Given the description of an element on the screen output the (x, y) to click on. 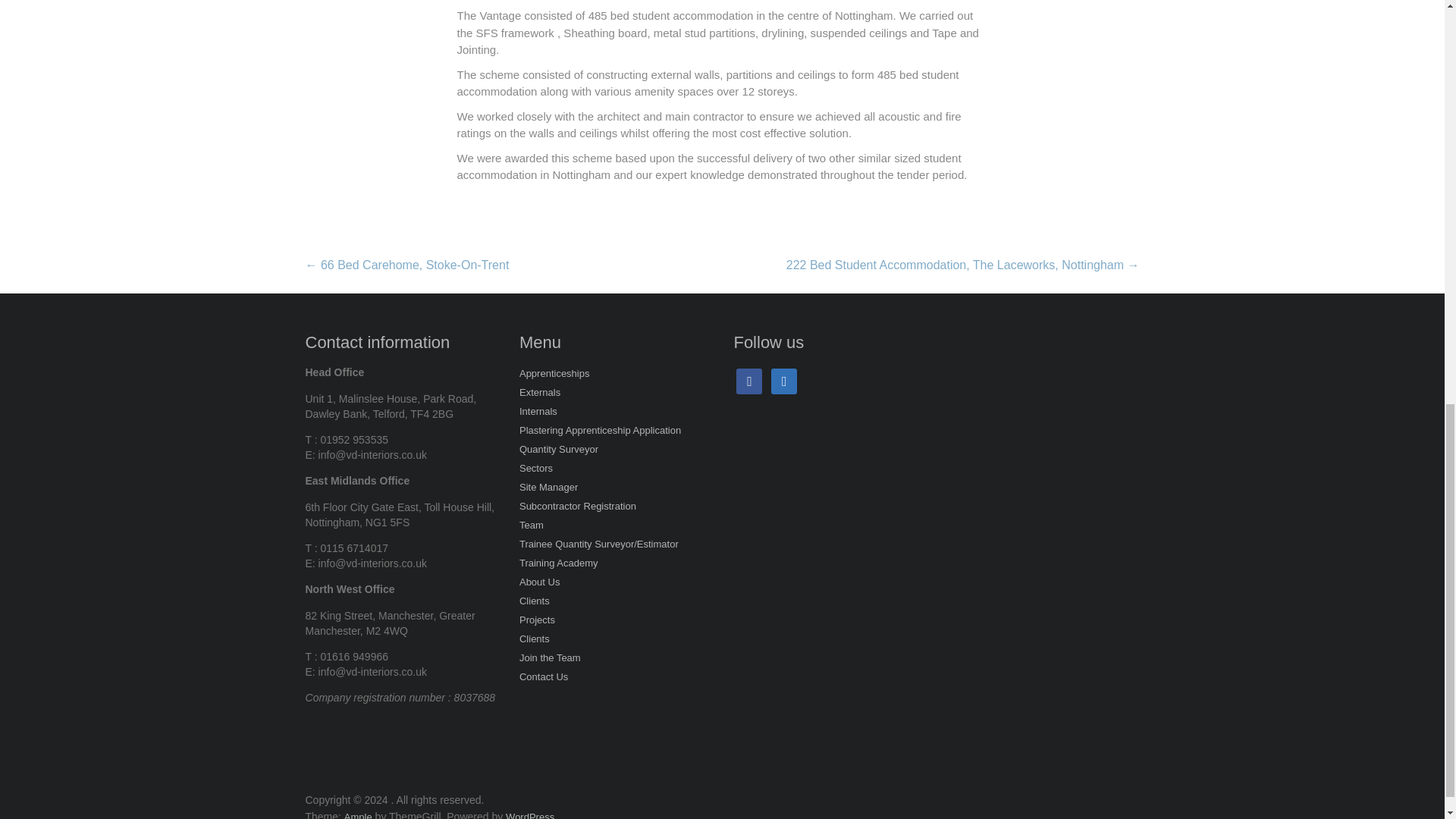
Projects (536, 620)
Subcontractor Registration (577, 506)
Sectors (536, 469)
WordPress (529, 815)
Training Academy (558, 564)
Clients (534, 640)
Site Manager (548, 488)
Ample (357, 815)
Clients (534, 601)
WordPress (529, 815)
Apprenticeships (554, 374)
Externals (539, 393)
Ample (357, 815)
Facebook (748, 382)
Internals (538, 412)
